Given the description of an element on the screen output the (x, y) to click on. 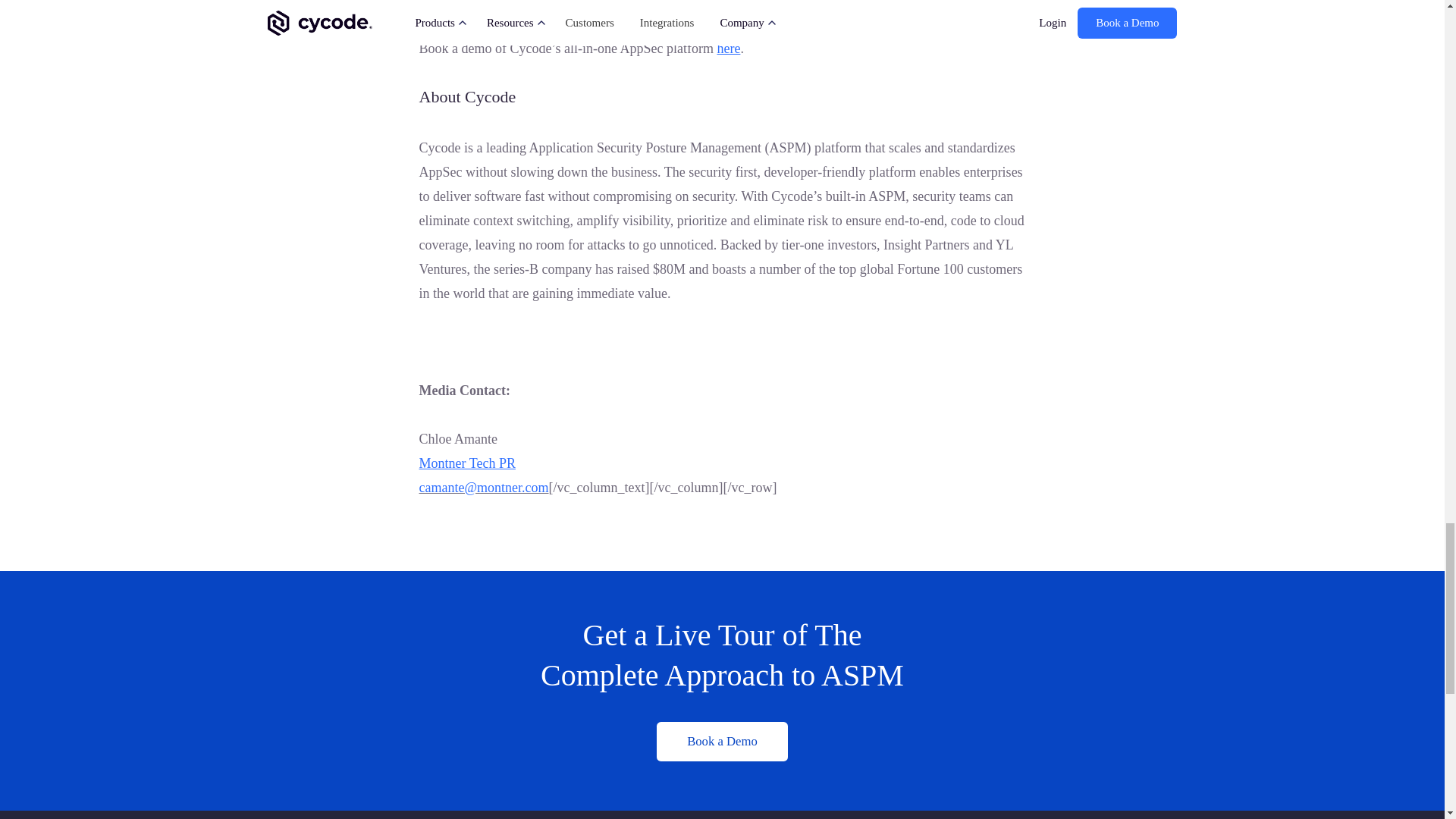
here (459, 3)
here (727, 48)
Montner Tech PR (467, 462)
